Given the description of an element on the screen output the (x, y) to click on. 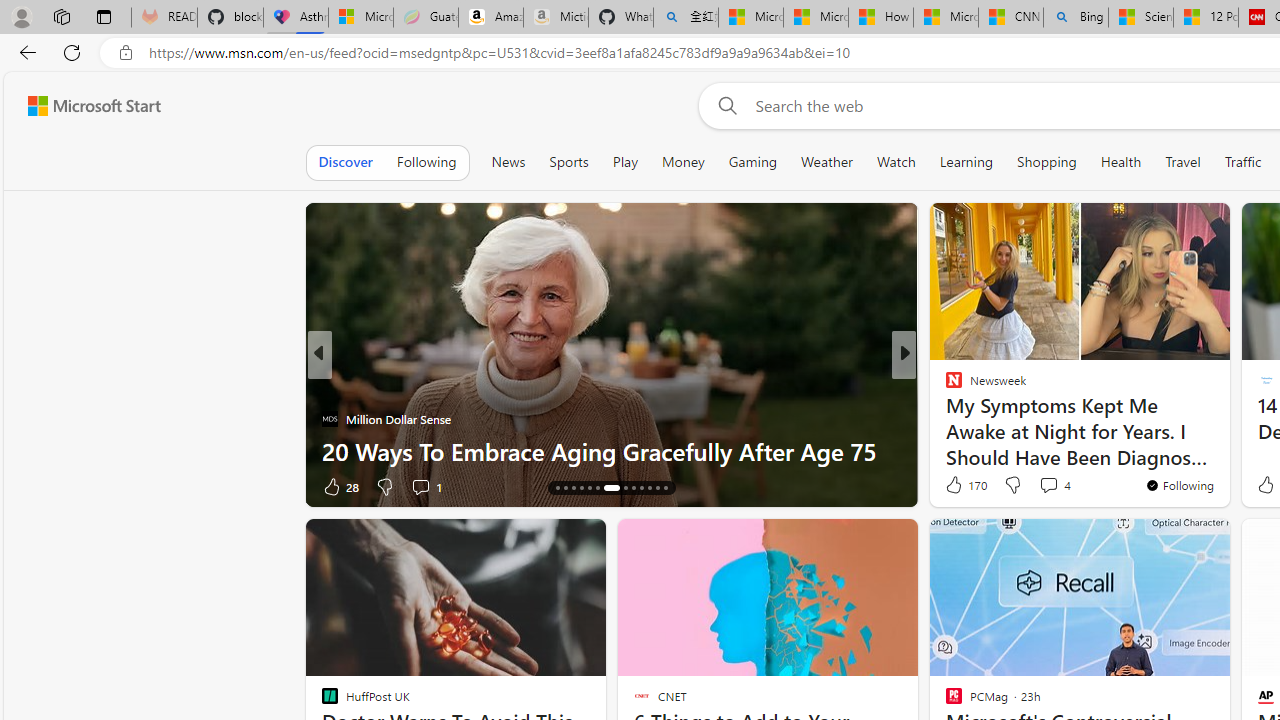
View comments 42 Comment (1042, 485)
AutomationID: tab-15 (564, 487)
View comments 4 Comment (1054, 484)
View comments 11 Comment (435, 486)
404 Like (959, 486)
AutomationID: tab-14 (556, 487)
